Given the description of an element on the screen output the (x, y) to click on. 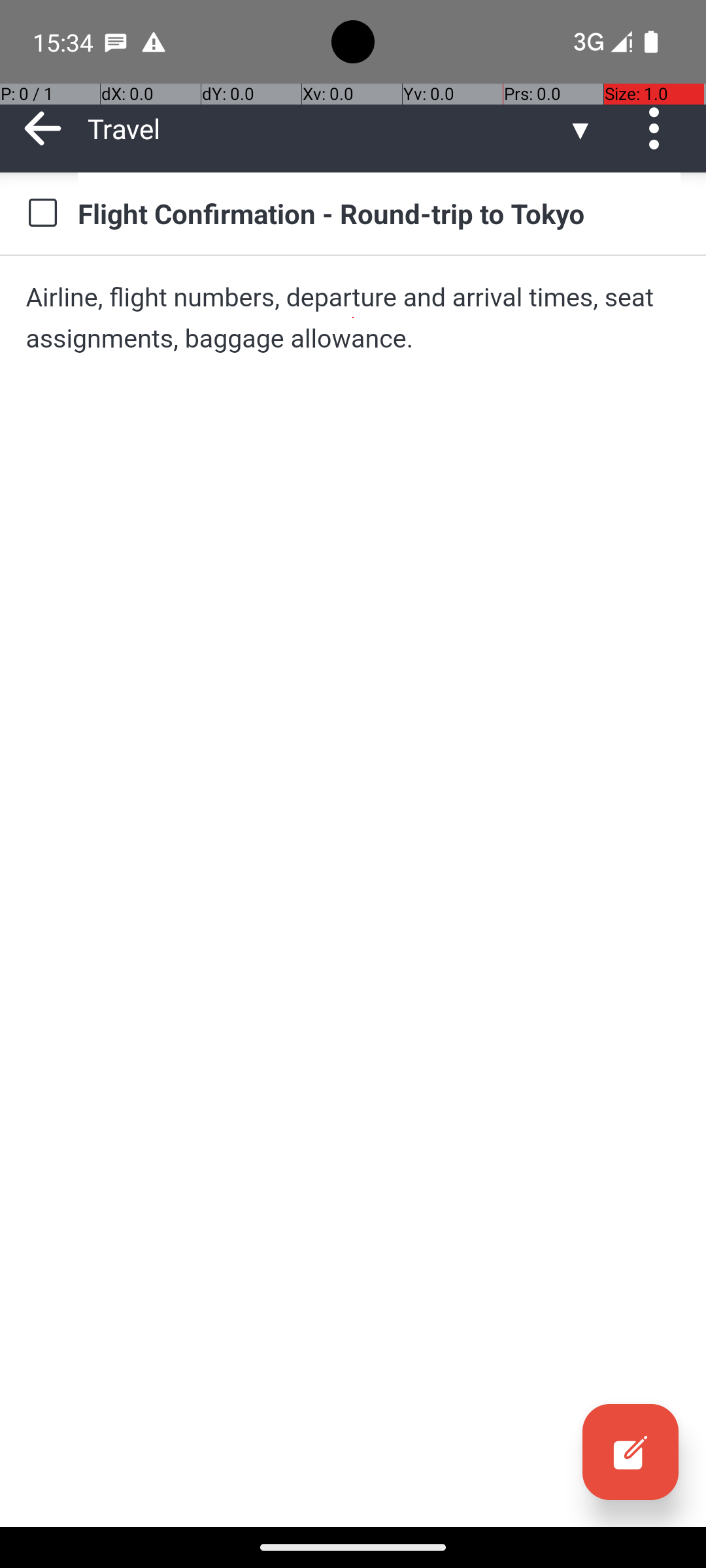
Flight Confirmation - Round-trip to Tokyo Element type: android.widget.EditText (378, 213)
Edit, collapsed Element type: android.widget.Button (630, 1452)
Travel Element type: android.widget.TextView (326, 128)
 Element type: android.widget.TextView (630, 1451)
Airline, flight numbers, departure and arrival times, seat assignments, baggage allowance. Element type: android.widget.TextView (352, 317)
